Given the description of an element on the screen output the (x, y) to click on. 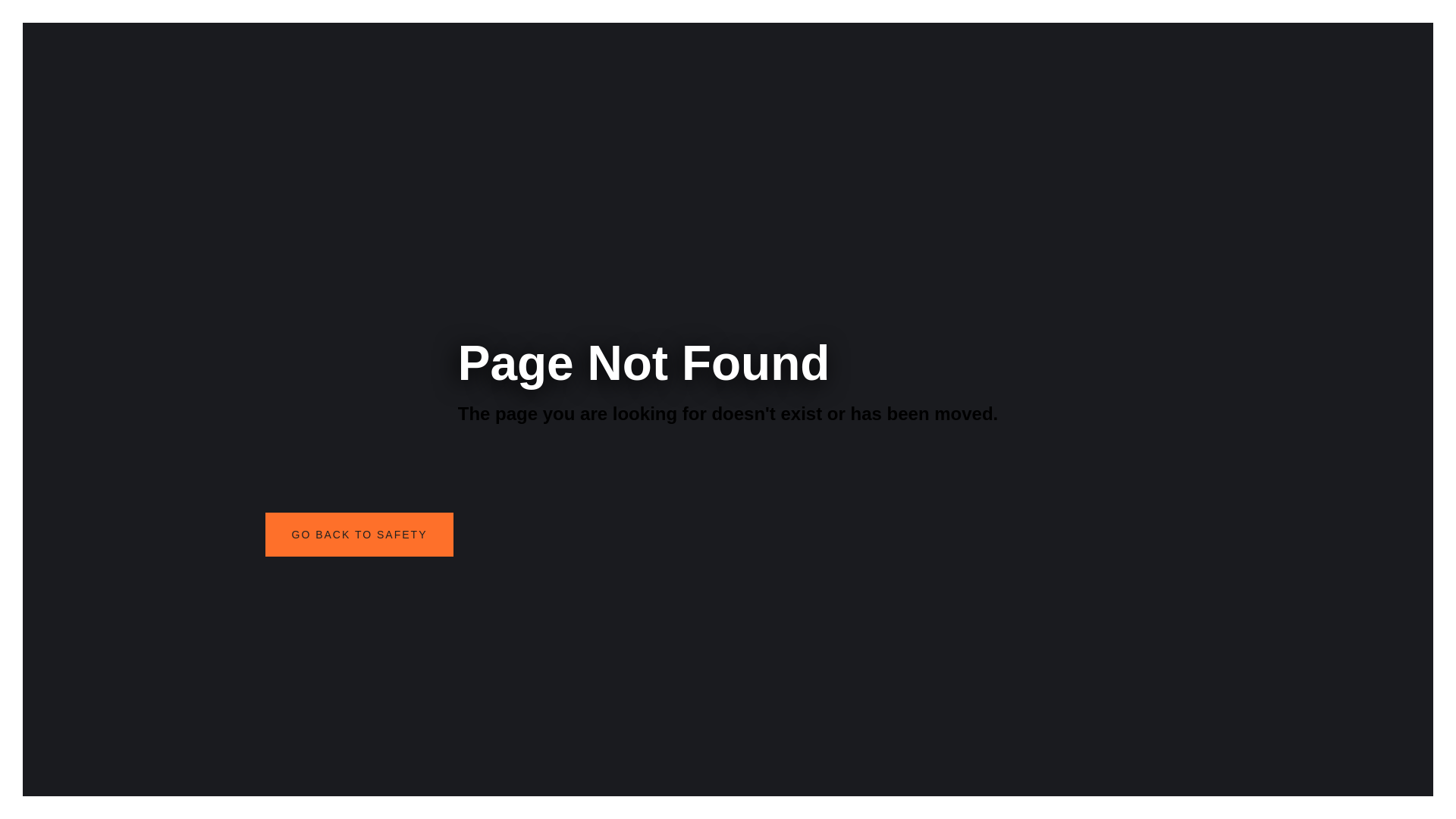
GO BACK TO SAFETY Element type: text (359, 534)
